Given the description of an element on the screen output the (x, y) to click on. 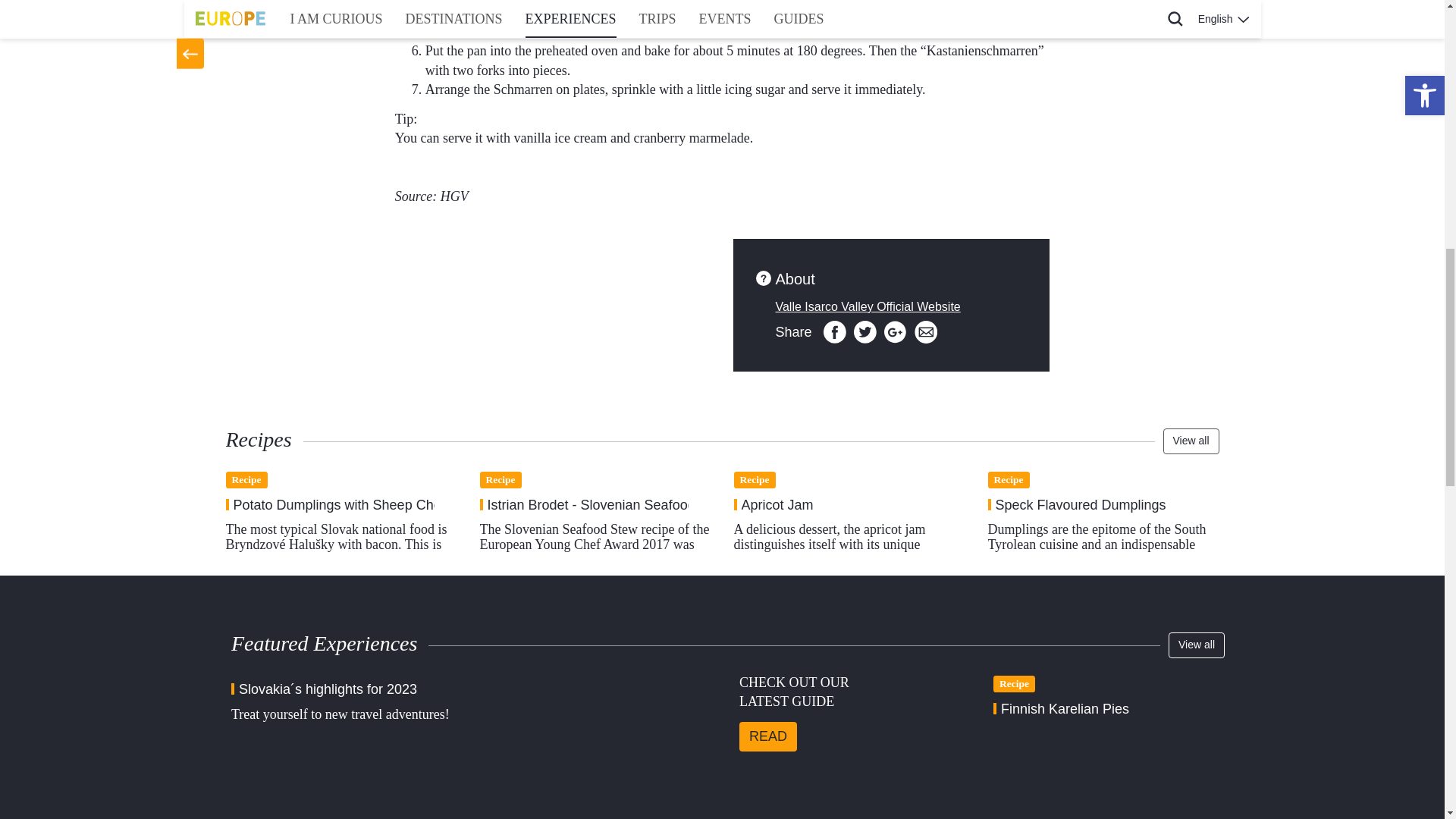
Valle Isarco Valley Official Website (866, 306)
Italy (552, 256)
view all (1191, 441)
view all (1196, 645)
Valle Isarco Valley Official Website (866, 306)
